Given the description of an element on the screen output the (x, y) to click on. 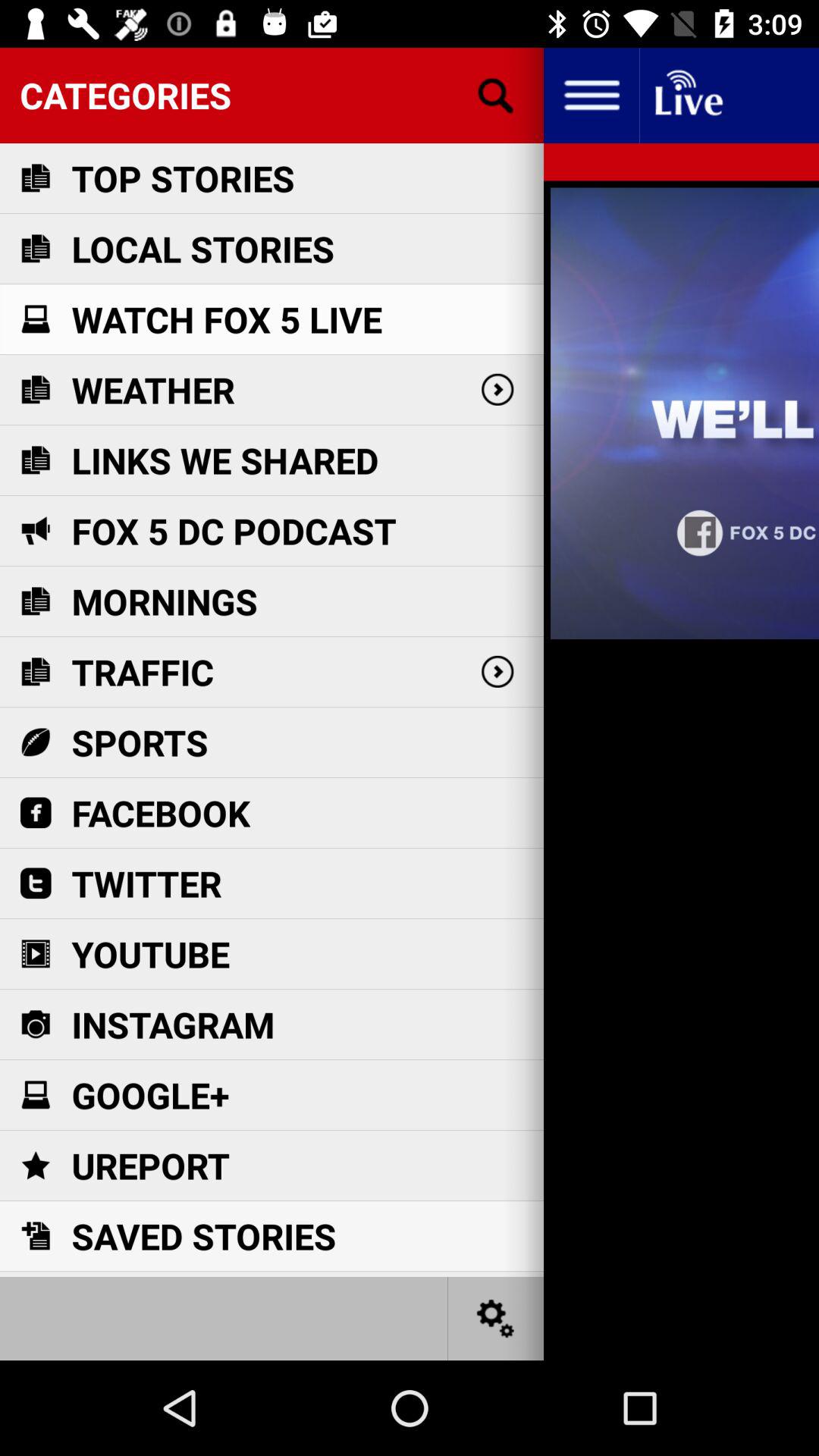
tap the ureport icon (150, 1165)
